Given the description of an element on the screen output the (x, y) to click on. 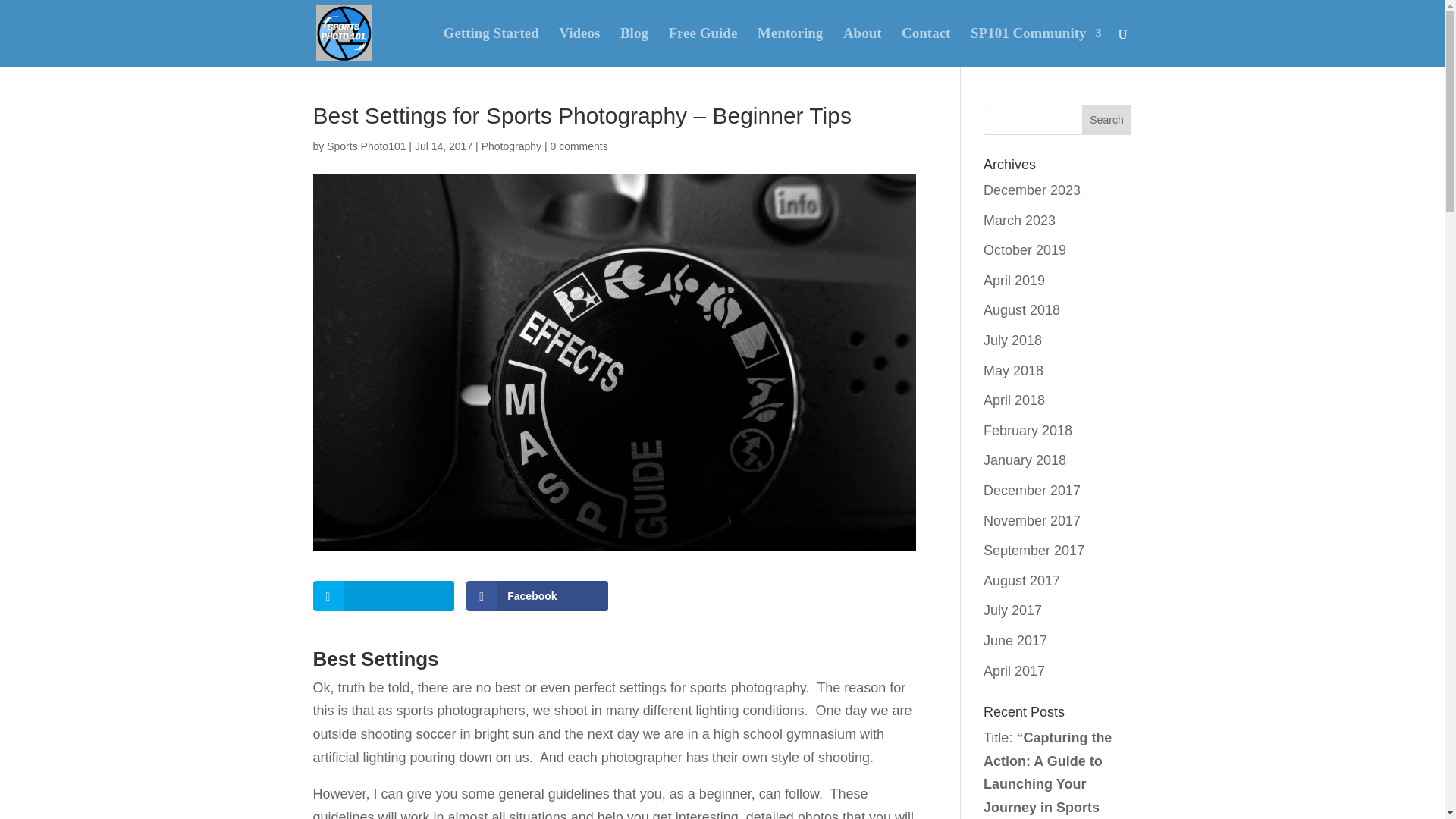
Search (1106, 119)
Photography (511, 146)
SP101 Community (1036, 46)
October 2019 (1024, 249)
Mentoring (790, 46)
About (862, 46)
Facebook (536, 595)
March 2023 (1019, 220)
Posts by Sports Photo101 (366, 146)
Sports Photo101 (366, 146)
